Given the description of an element on the screen output the (x, y) to click on. 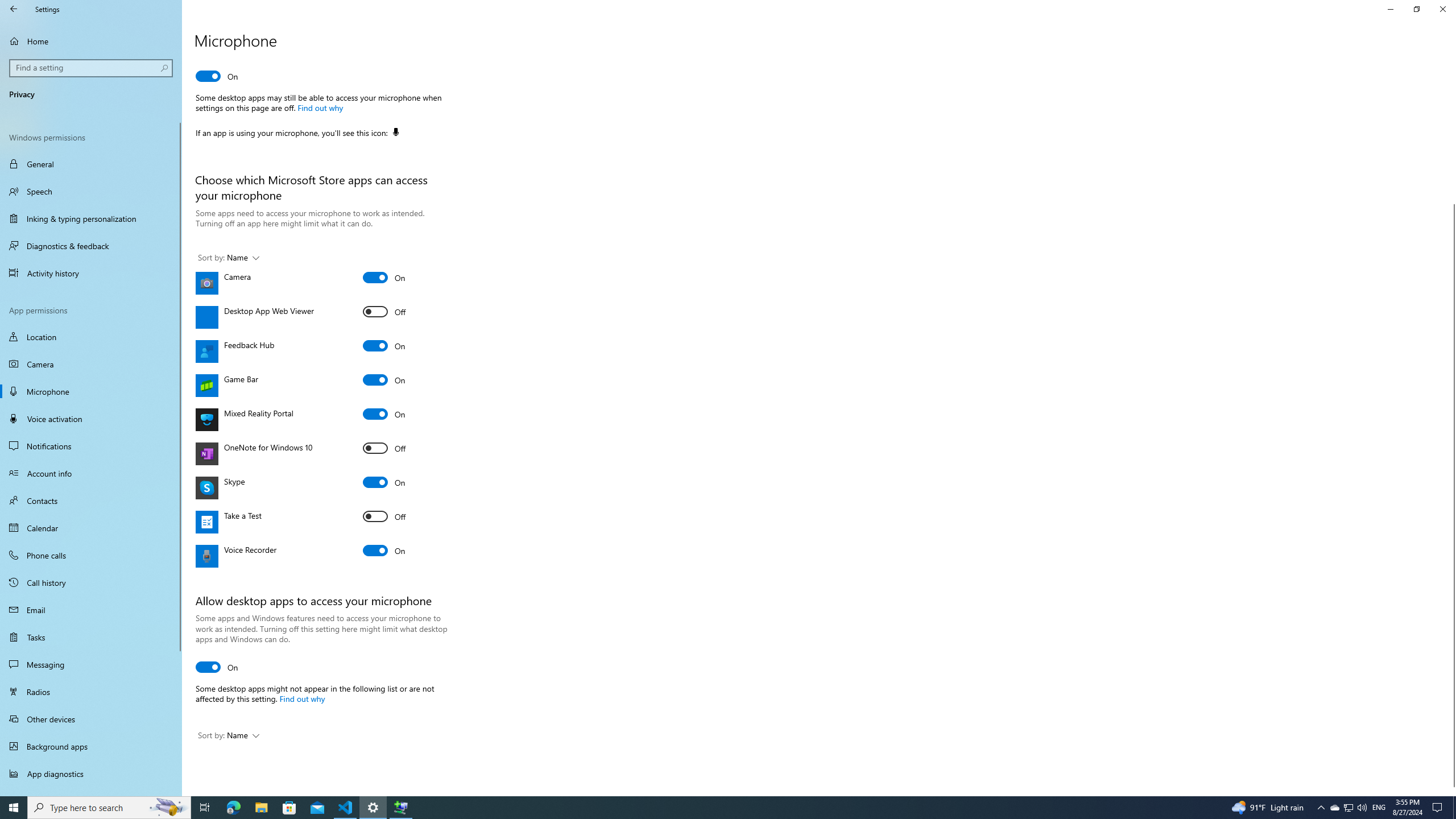
Calendar (91, 527)
Phone calls (91, 554)
General (91, 163)
Find out why (301, 698)
Tasks (91, 636)
Camera (91, 363)
Feedback Hub (384, 345)
Vertical Large Decrease (1451, 133)
Sort by: Name (228, 736)
Extensible Wizards Host Process - 1 running window (400, 807)
